Given the description of an element on the screen output the (x, y) to click on. 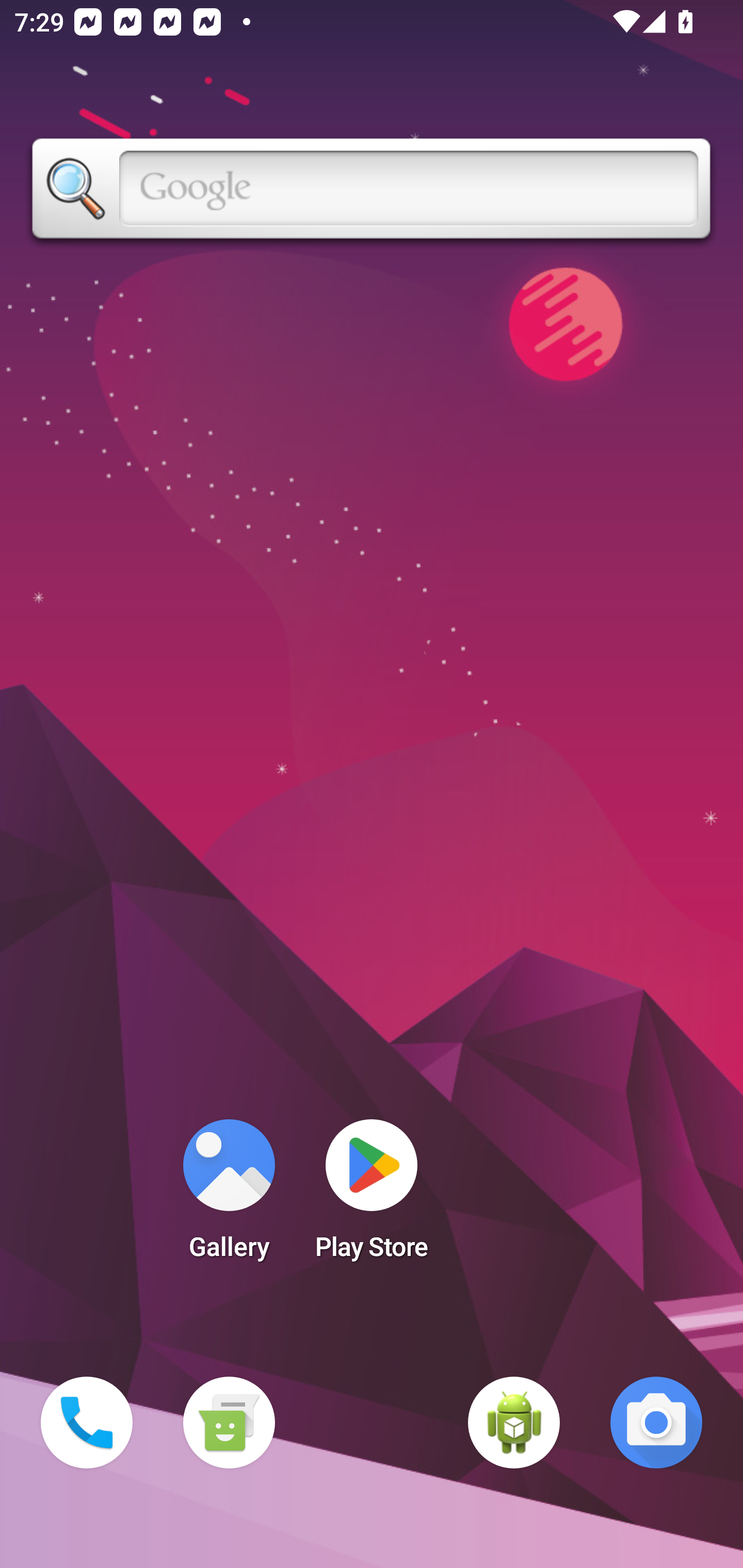
Gallery (228, 1195)
Play Store (371, 1195)
Phone (86, 1422)
Messaging (228, 1422)
WebView Browser Tester (513, 1422)
Camera (656, 1422)
